Given the description of an element on the screen output the (x, y) to click on. 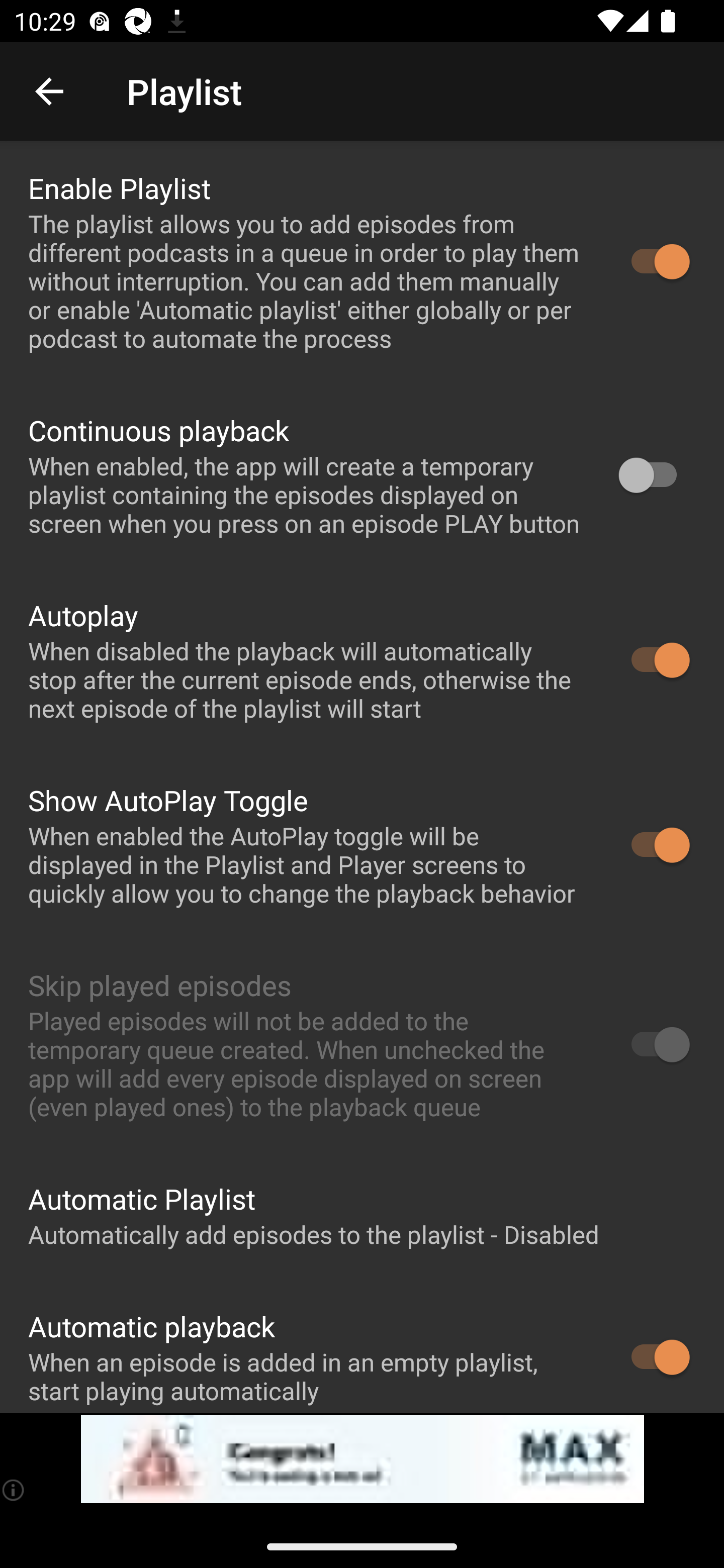
Navigate up (49, 91)
app-monetization (362, 1459)
(i) (14, 1489)
